Given the description of an element on the screen output the (x, y) to click on. 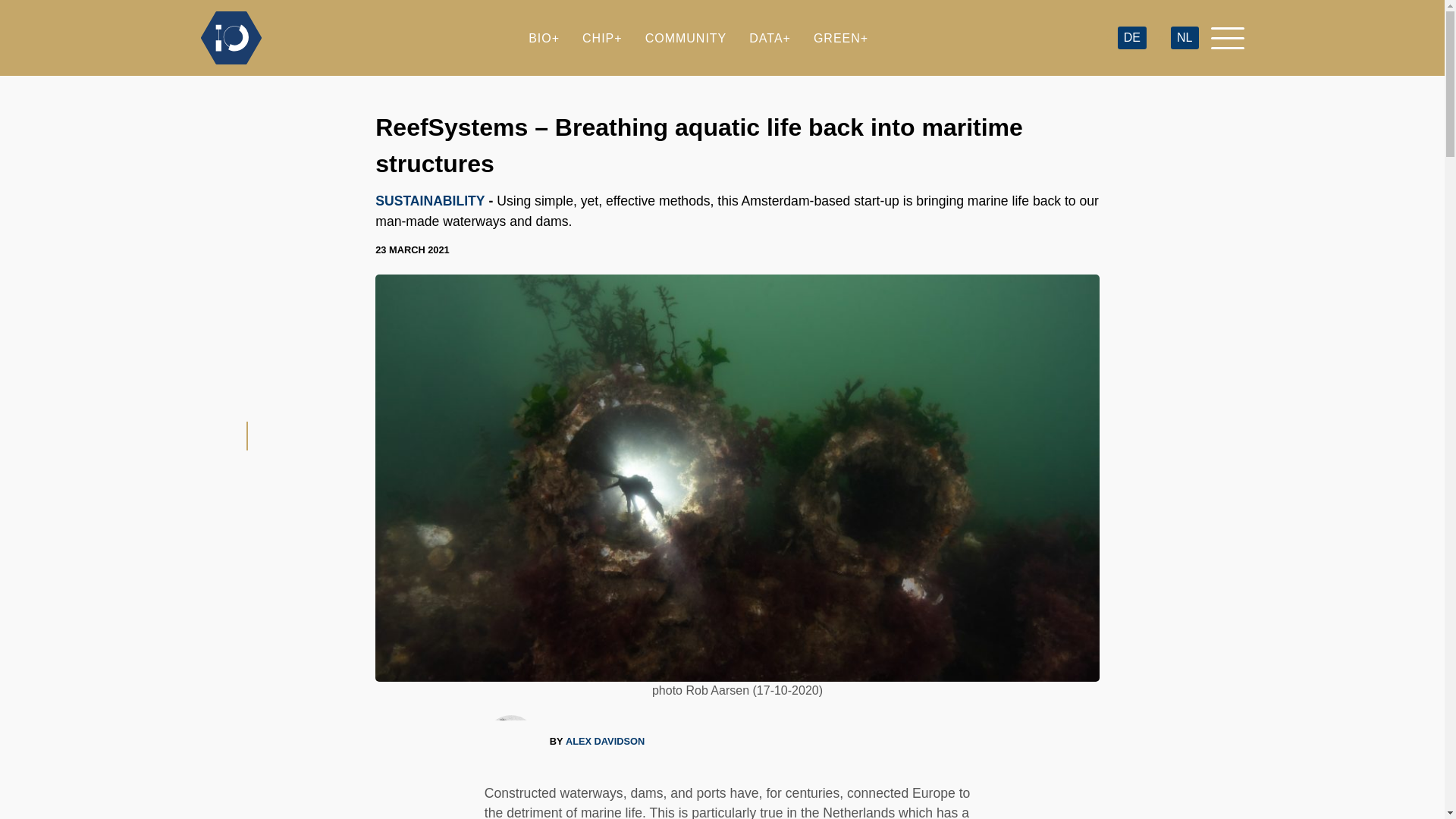
DE (1132, 37)
ALEX DAVIDSON (605, 740)
NL (1184, 37)
SUSTAINABILITY (429, 200)
COMMUNITY (685, 38)
